Given the description of an element on the screen output the (x, y) to click on. 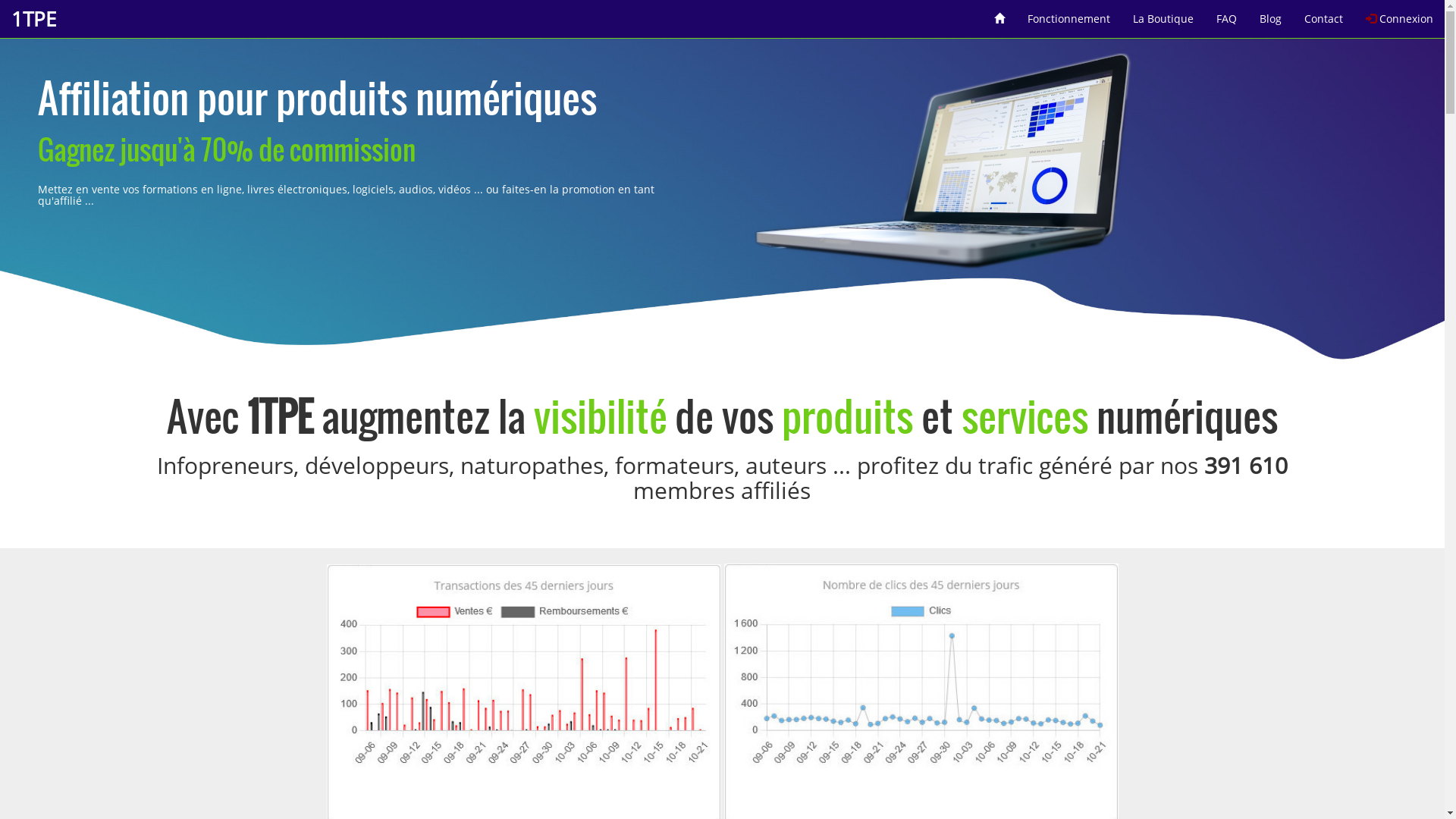
Fonctionnement Element type: text (1068, 13)
FAQ Element type: text (1226, 13)
Blog Element type: text (1270, 13)
La Boutique Element type: text (1162, 13)
Connexion Element type: text (1399, 13)
1TPE Element type: text (33, 18)
Contact Element type: text (1323, 13)
